Given the description of an element on the screen output the (x, y) to click on. 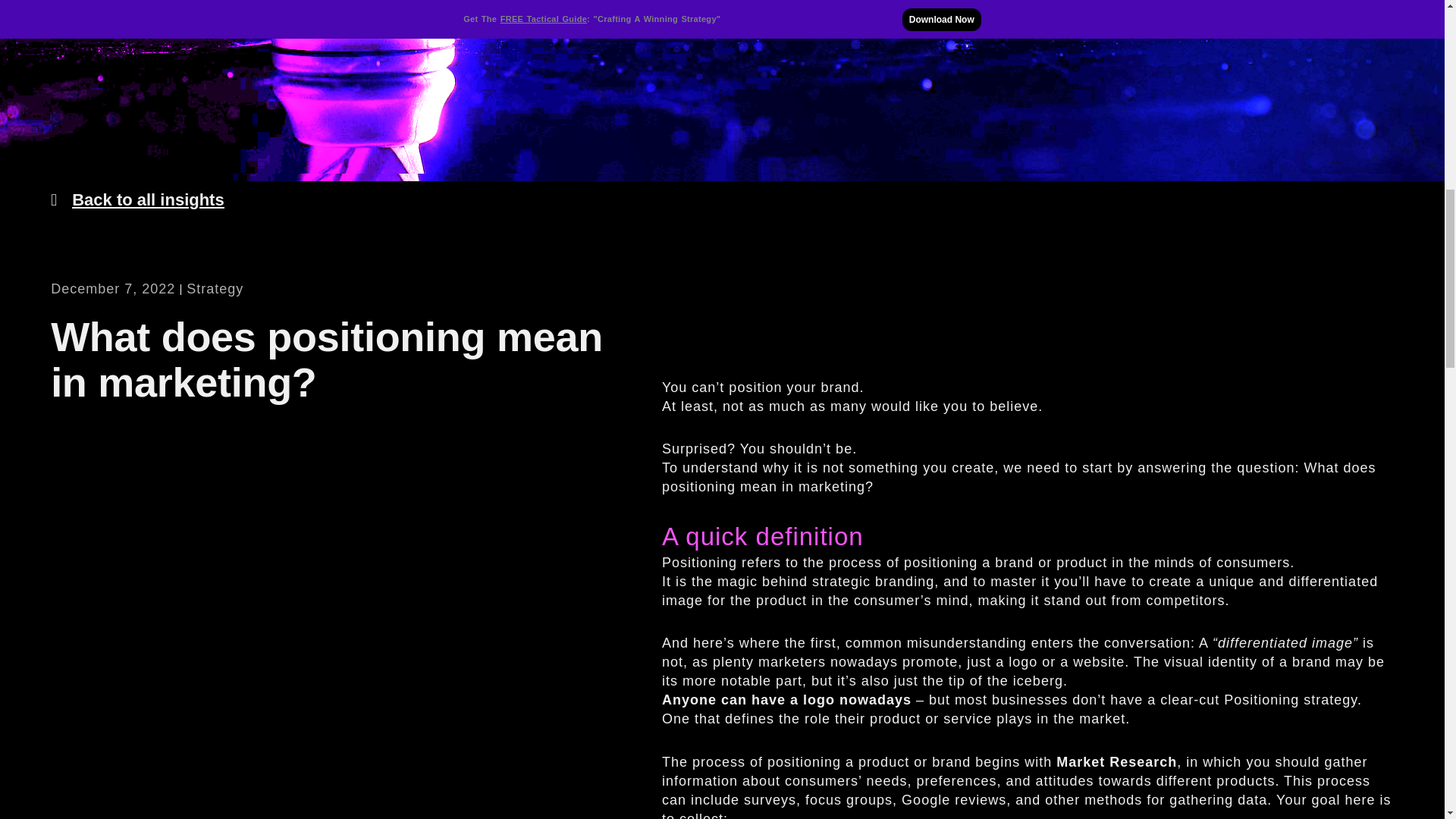
Strategy (214, 288)
Back to all insights (137, 200)
December 7, 2022 (112, 289)
